Given the description of an element on the screen output the (x, y) to click on. 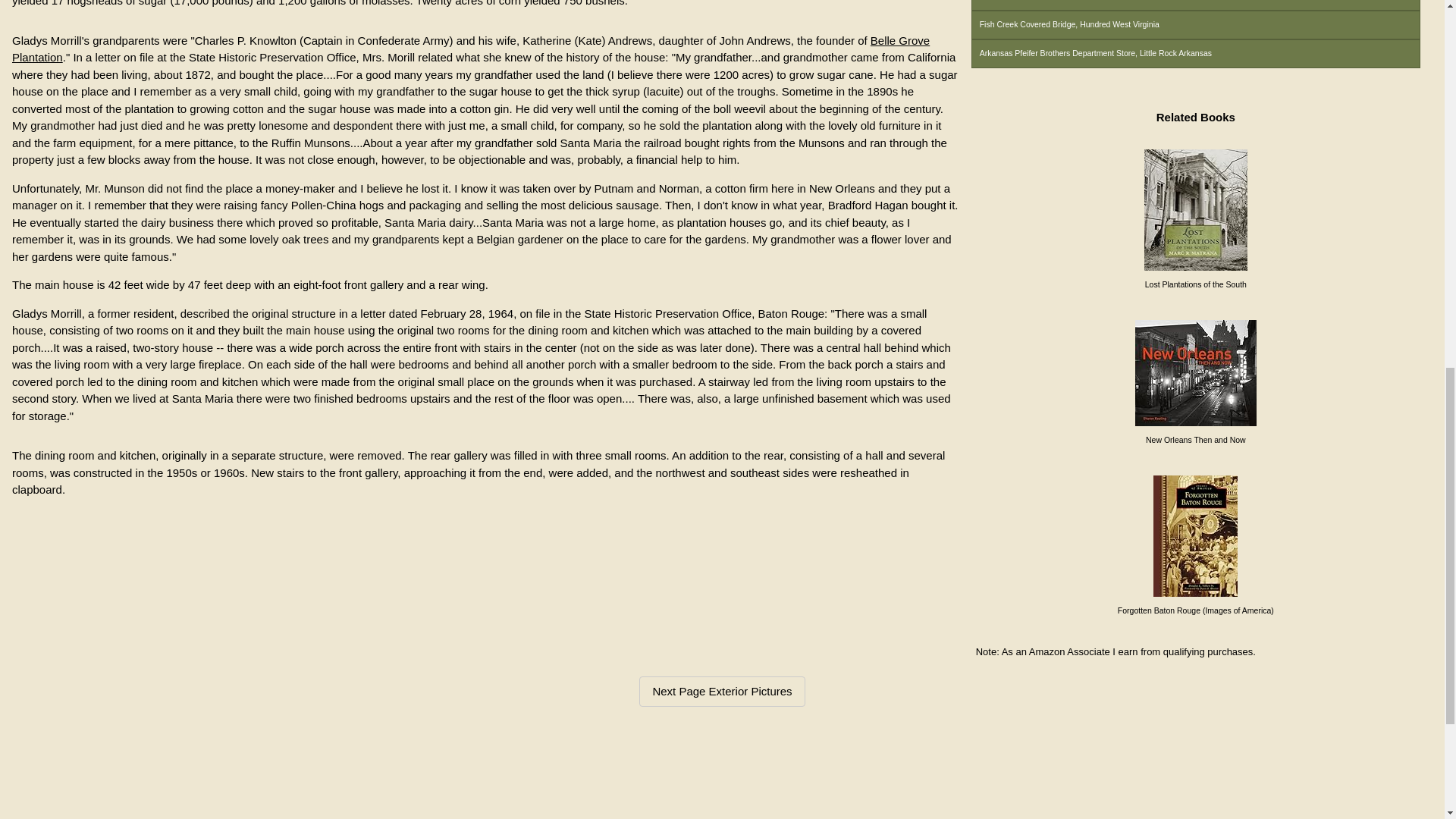
YouTube video player (721, 777)
Dallas County Training School, Fordyce Arkansas (1196, 5)
Fish Creek Covered Bridge, Hundred West Virginia (1196, 24)
